Given the description of an element on the screen output the (x, y) to click on. 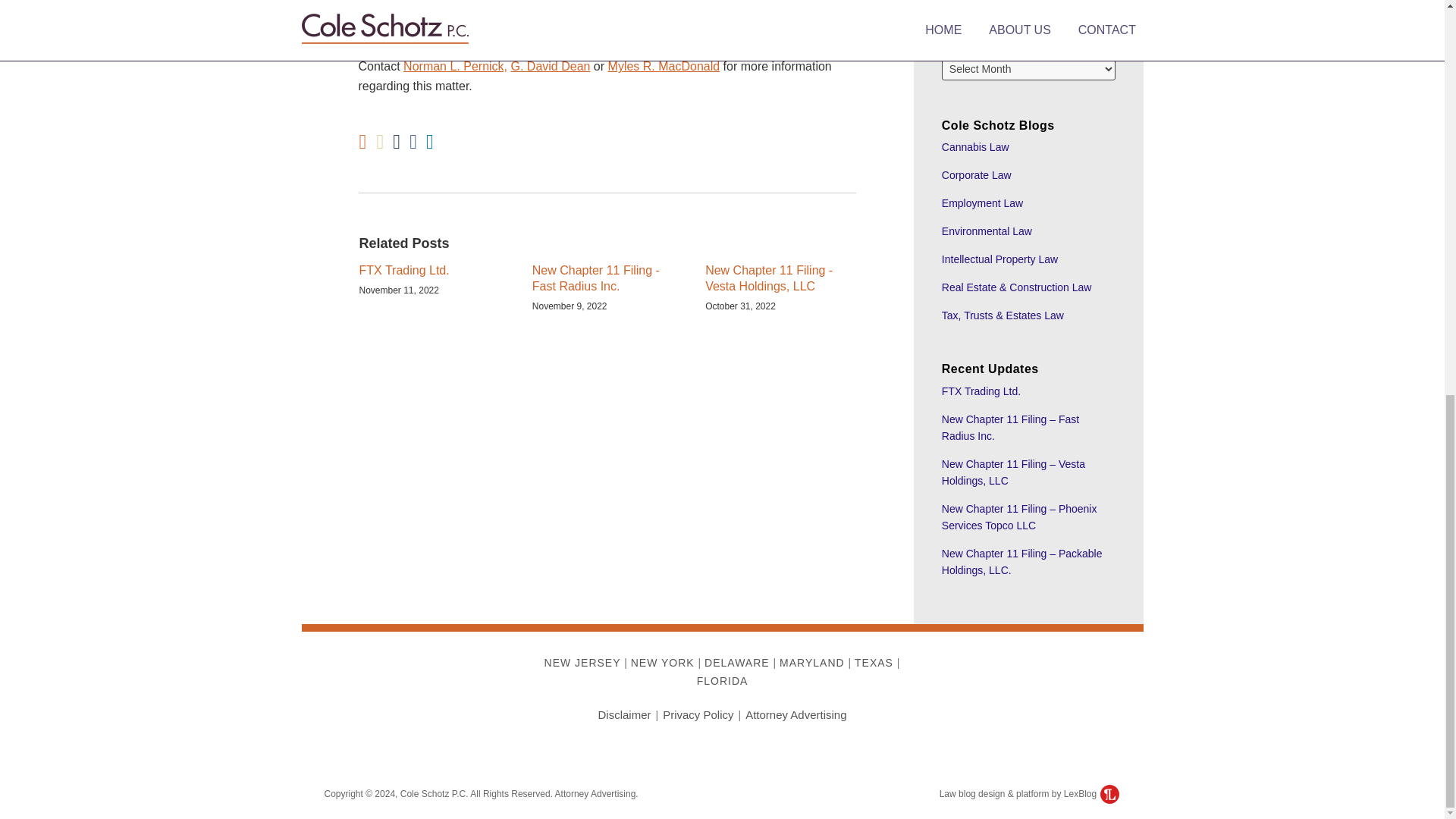
Epiq Corporate Restructuring (603, 9)
Myles R. MacDonald (664, 65)
LexBlog Logo (1109, 793)
New Chapter 11 Filing - Fast Radius Inc. (607, 278)
FTX Trading Ltd. (404, 270)
Corporate Law (976, 174)
Norman L. Pernick, (454, 65)
Intellectual Property Law (1000, 259)
Environmental Law (987, 231)
Employment Law (982, 203)
FTX Trading Ltd. (981, 390)
Cannabis Law (975, 146)
G. David Dean (550, 65)
New Chapter 11 Filing - Vesta Holdings, LLC (780, 278)
